Given the description of an element on the screen output the (x, y) to click on. 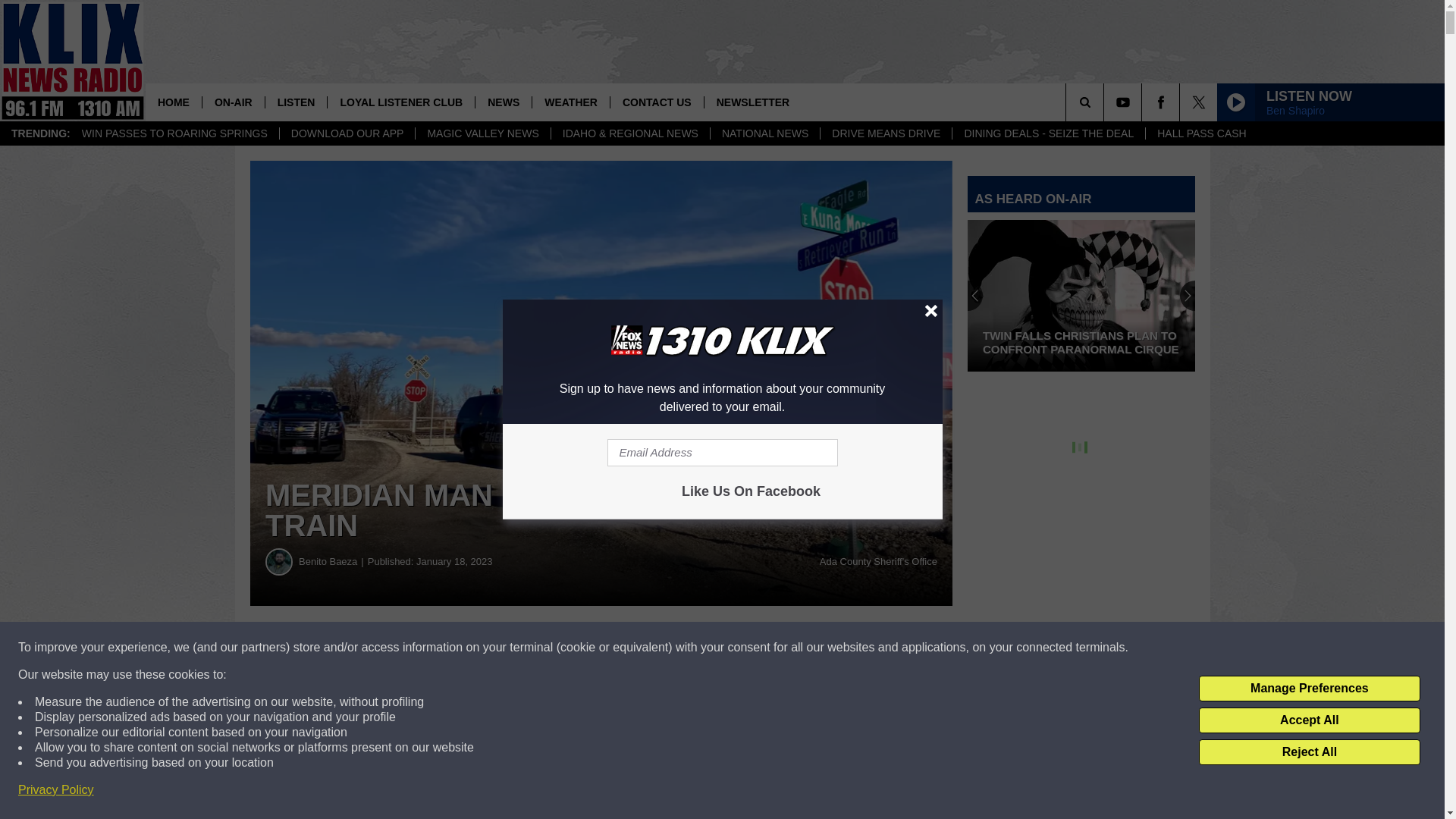
Privacy Policy (55, 789)
NATIONAL NEWS (764, 133)
SEARCH (1106, 102)
Reject All (1309, 751)
ON-AIR (233, 102)
DINING DEALS - SEIZE THE DEAL (1048, 133)
Email Address (722, 452)
Share on Twitter (741, 647)
MAGIC VALLEY NEWS (482, 133)
DOWNLOAD OUR APP (346, 133)
Manage Preferences (1309, 688)
WIN PASSES TO ROARING SPRINGS (174, 133)
HOME (173, 102)
SEARCH (1106, 102)
LOYAL LISTENER CLUB (400, 102)
